Given the description of an element on the screen output the (x, y) to click on. 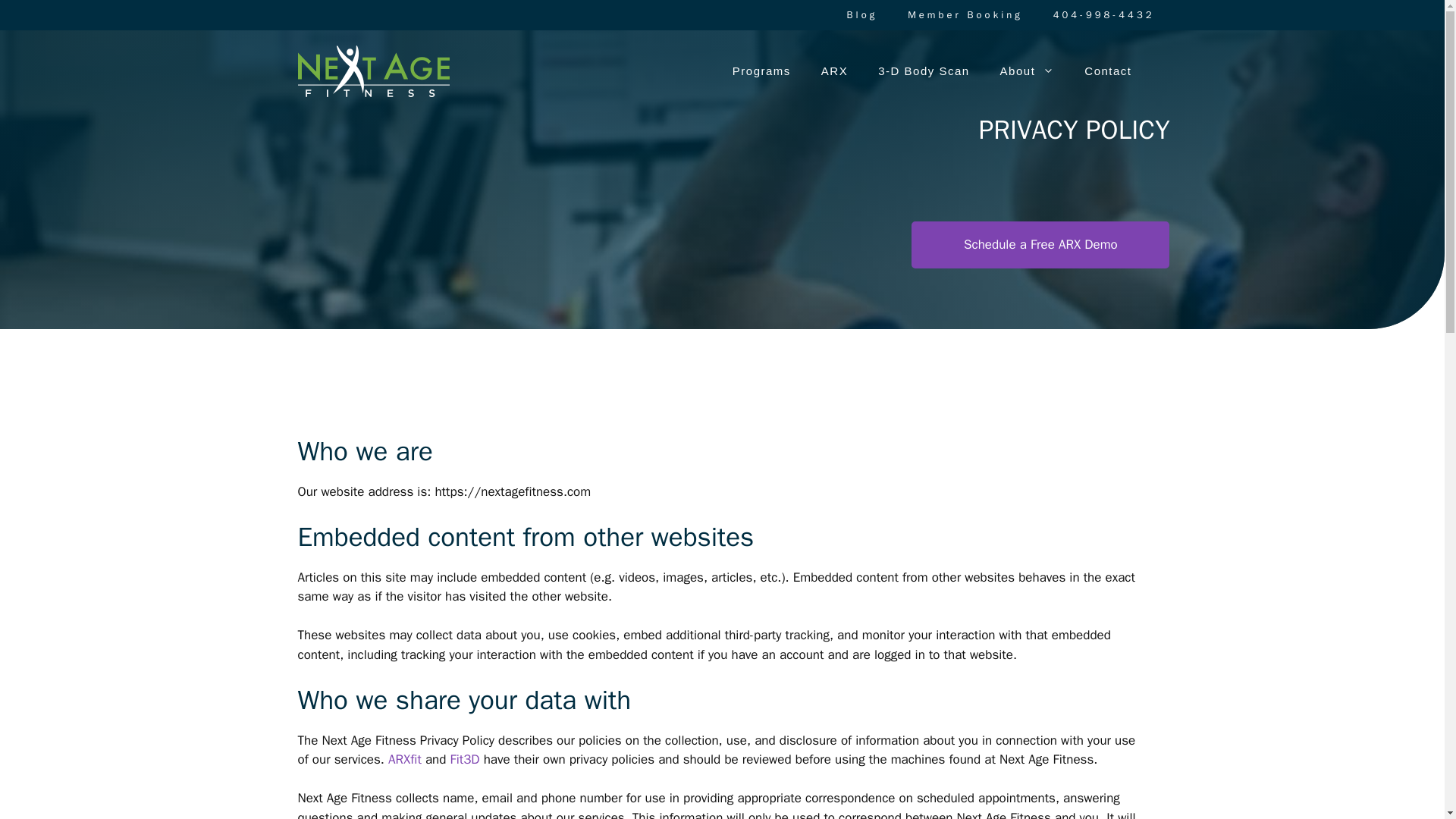
Schedule a Free ARX Demo (1040, 244)
Member Booking (965, 15)
ARXfit (405, 759)
About (1027, 71)
Fit3D (464, 759)
Blog (862, 15)
ARX (834, 71)
Next Age Fitness (372, 71)
Next Age Fitness (372, 69)
3-D Body Scan (923, 71)
